Given the description of an element on the screen output the (x, y) to click on. 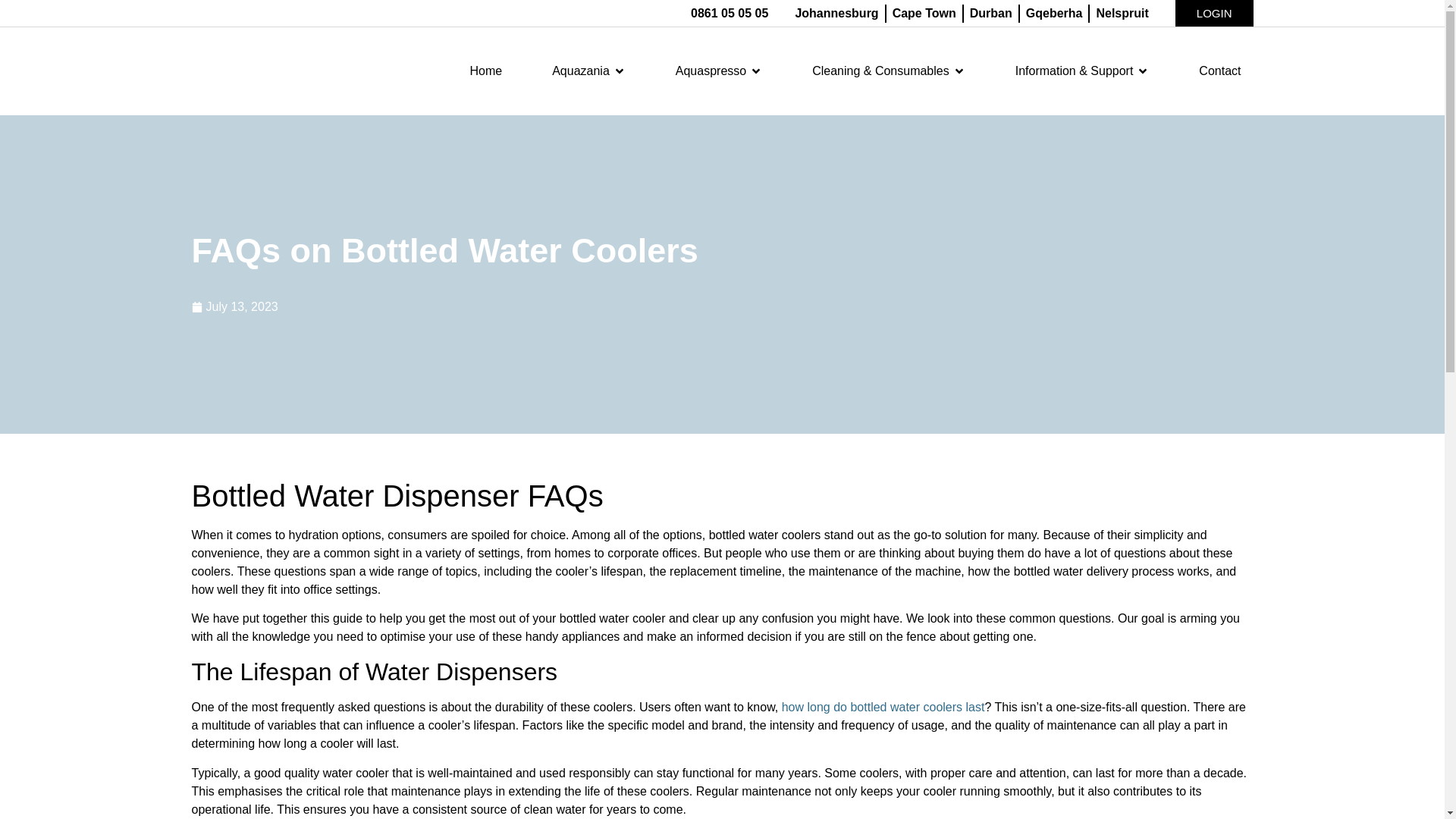
Aquaspresso (710, 71)
Aquazania (580, 71)
Durban (990, 13)
Cape Town (924, 13)
0861 05 05 05 (729, 13)
Contact (1219, 71)
Nelspruit (1122, 13)
LOGIN (1213, 13)
Johannesburg (835, 13)
Gqeberha (1054, 13)
Home (485, 71)
